Given the description of an element on the screen output the (x, y) to click on. 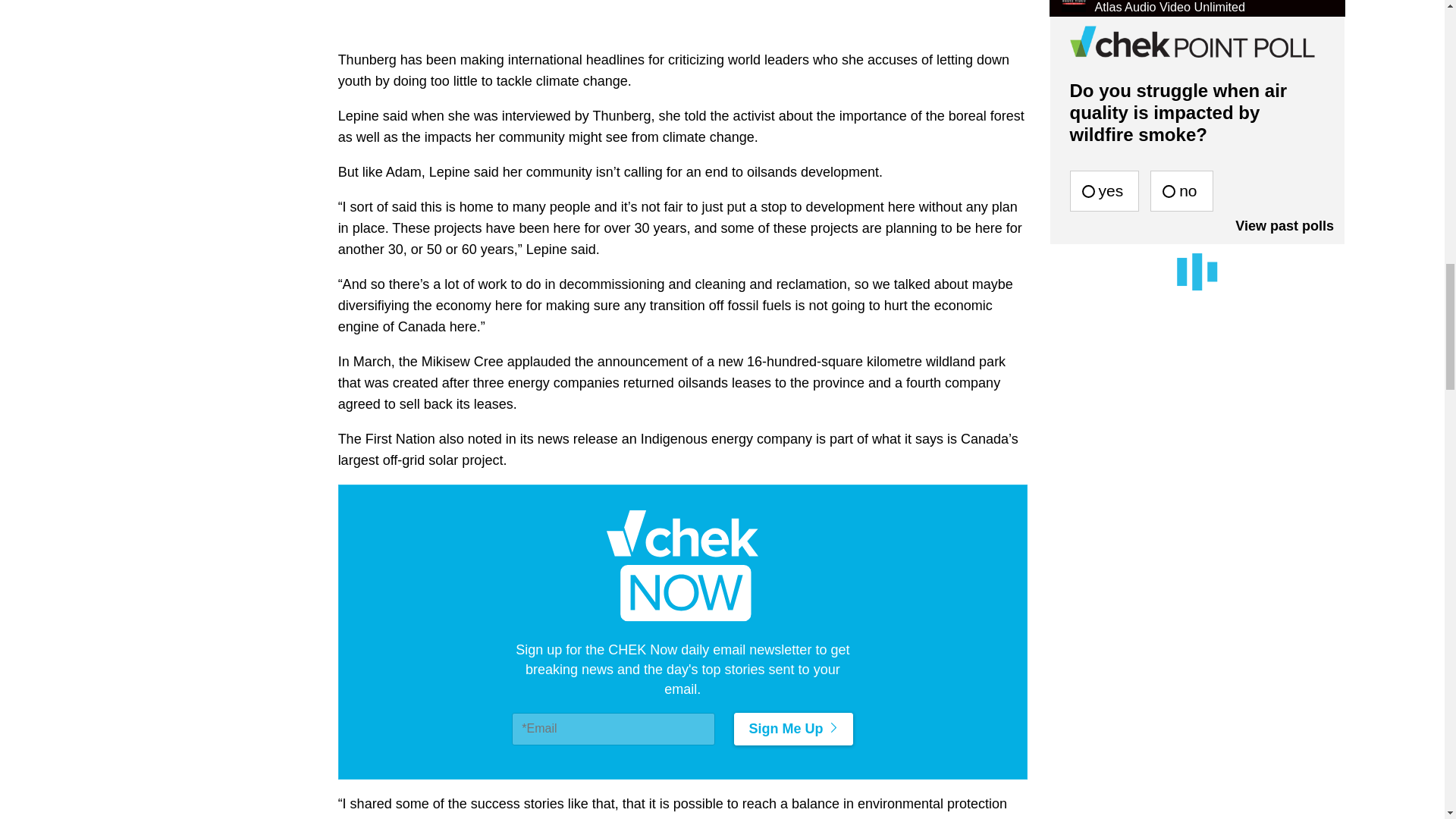
3rd party ad content (682, 4)
